Given the description of an element on the screen output the (x, y) to click on. 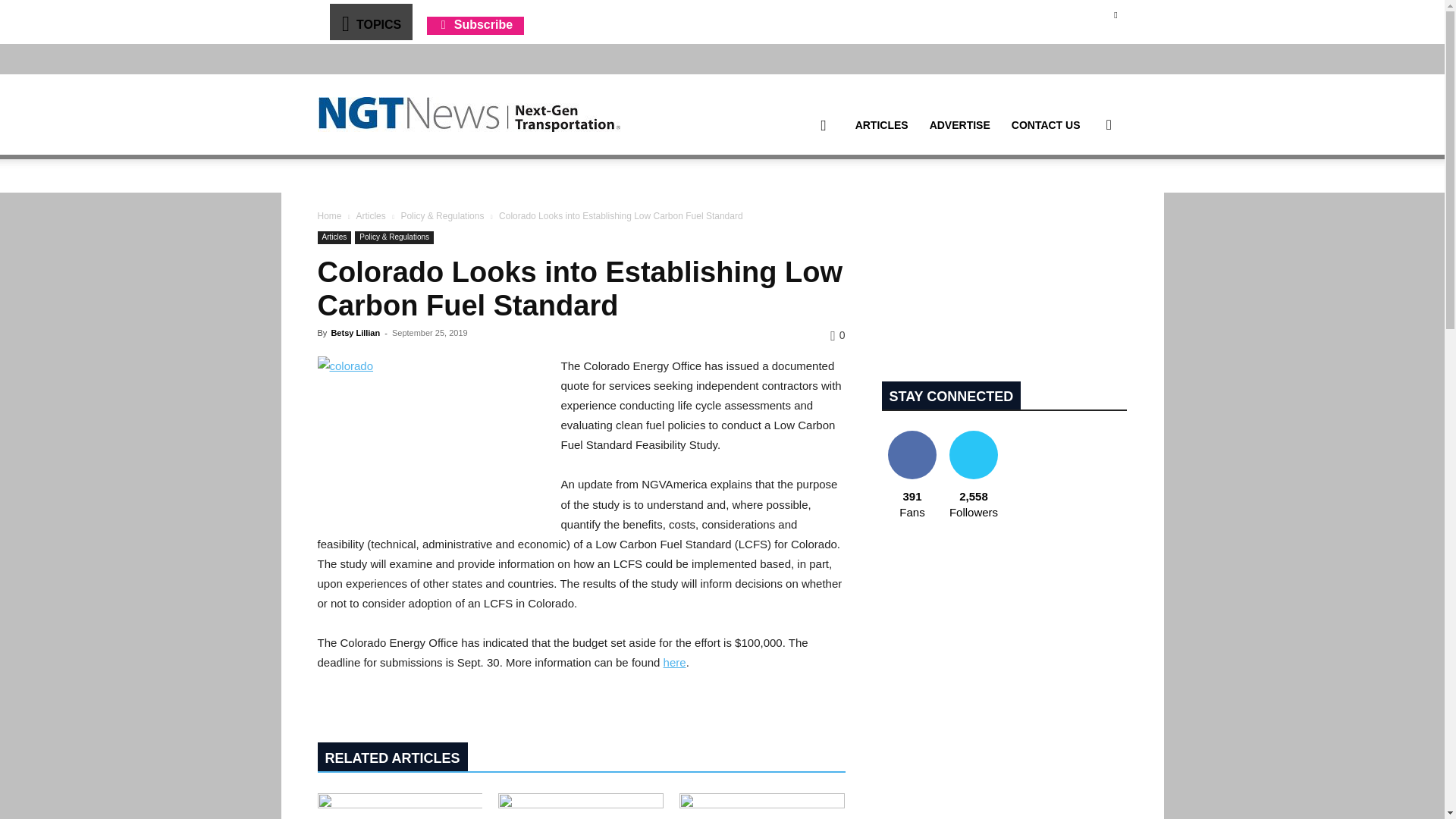
Search (1085, 197)
Twitter (1114, 14)
Alternative Fuel News, CNG News (468, 114)
Subscribe (475, 24)
NGT News (468, 114)
TOPICS (370, 22)
ARTICLES (881, 124)
